Given the description of an element on the screen output the (x, y) to click on. 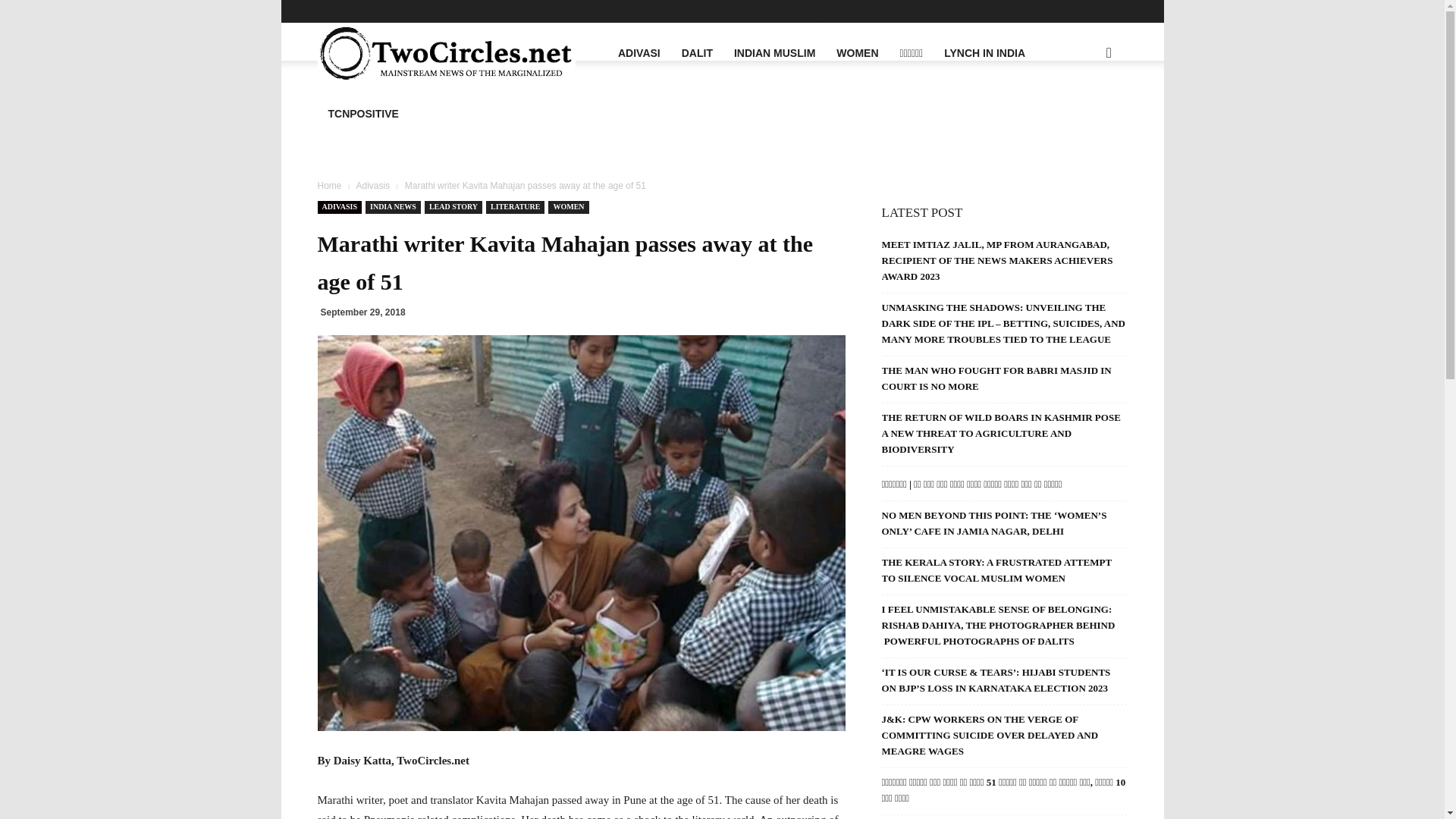
Facebook (1015, 11)
TCNPositive (944, 9)
Home (328, 185)
Dalit (590, 9)
ADIVASI (639, 52)
LYNCH IN INDIA (984, 52)
Adivasi (541, 9)
TCNPOSITIVE (363, 113)
WOMEN (856, 52)
Youtube (1114, 11)
Lynch in India (854, 9)
Twitter (1090, 11)
Instagram (1065, 11)
INDIAN MUSLIM (774, 52)
